Given the description of an element on the screen output the (x, y) to click on. 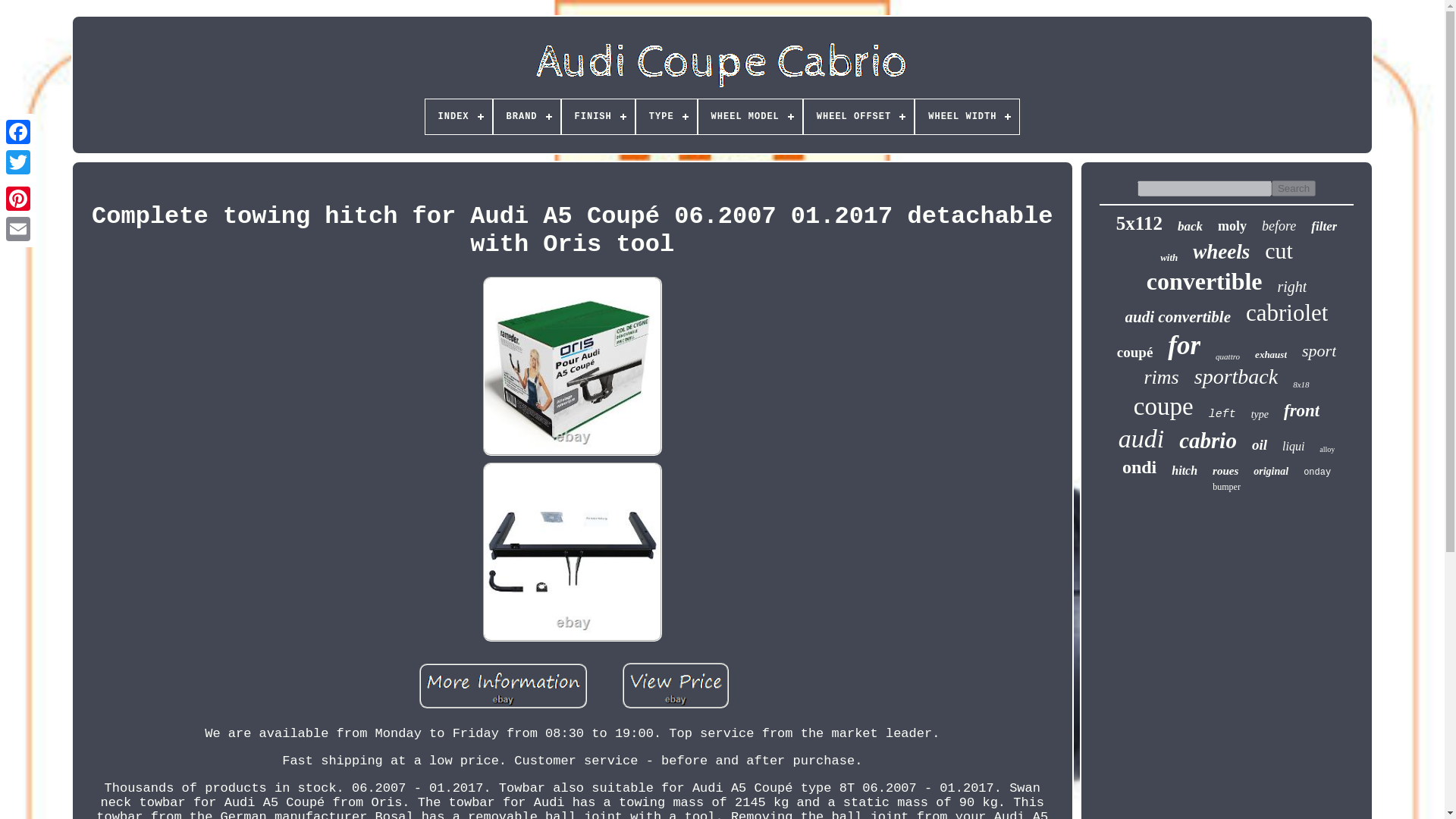
Pinterest (17, 198)
FINISH (598, 116)
Search (1293, 188)
INDEX (458, 116)
BRAND (526, 116)
